Given the description of an element on the screen output the (x, y) to click on. 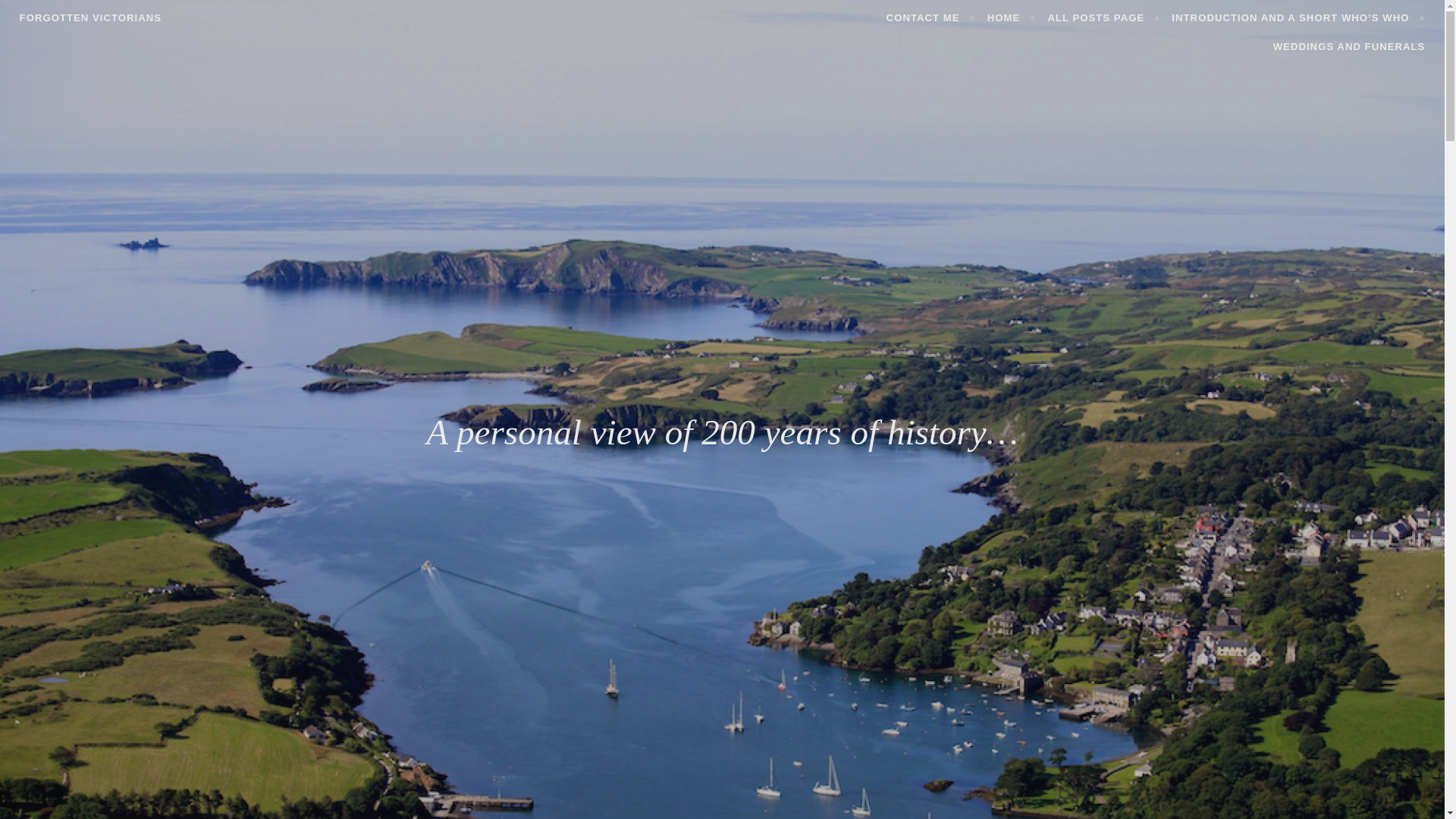
Search (37, 14)
ALL POSTS PAGE (1103, 17)
FORGOTTEN VICTORIANS (90, 17)
WEDDINGS AND FUNERALS (1348, 46)
HOME (1011, 17)
CONTACT ME (930, 17)
